Given the description of an element on the screen output the (x, y) to click on. 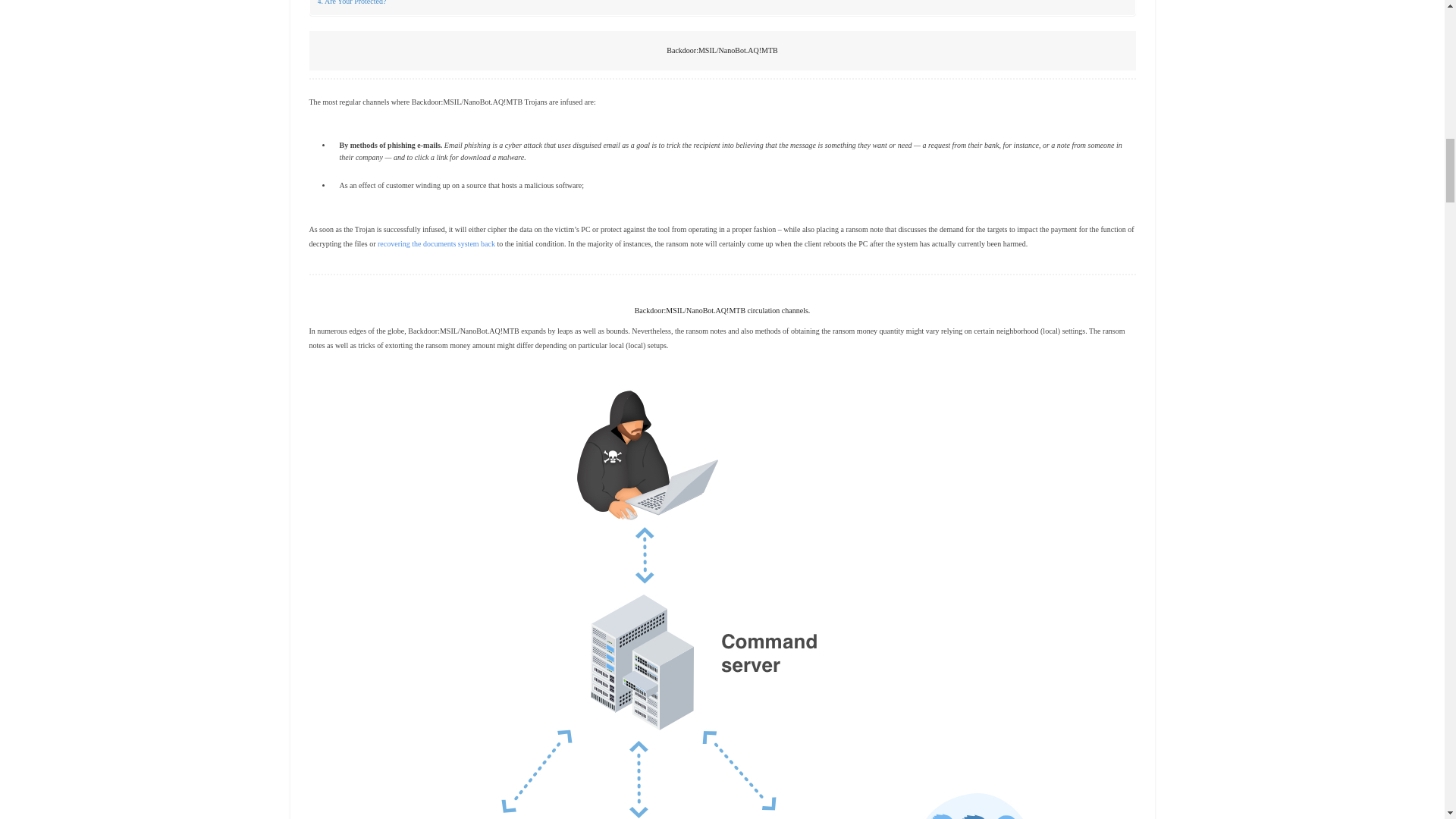
Are Your Protected? (351, 3)
recovering the documents system back (436, 243)
Are Your Protected? (351, 3)
